Given the description of an element on the screen output the (x, y) to click on. 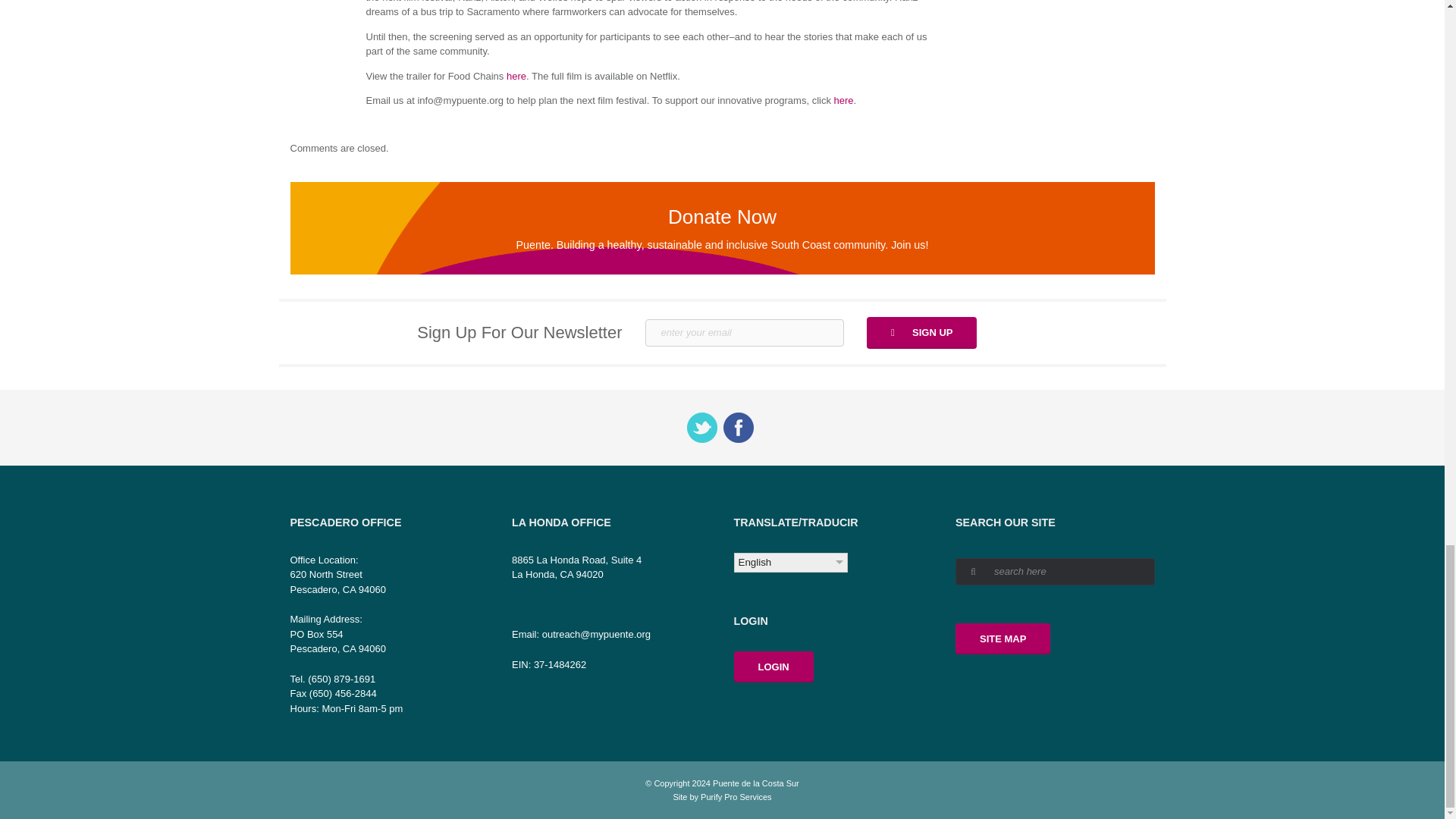
Sign Up (921, 332)
here (515, 75)
Facebook (738, 427)
Twitter (702, 427)
here (843, 100)
Sign Up (921, 332)
